Given the description of an element on the screen output the (x, y) to click on. 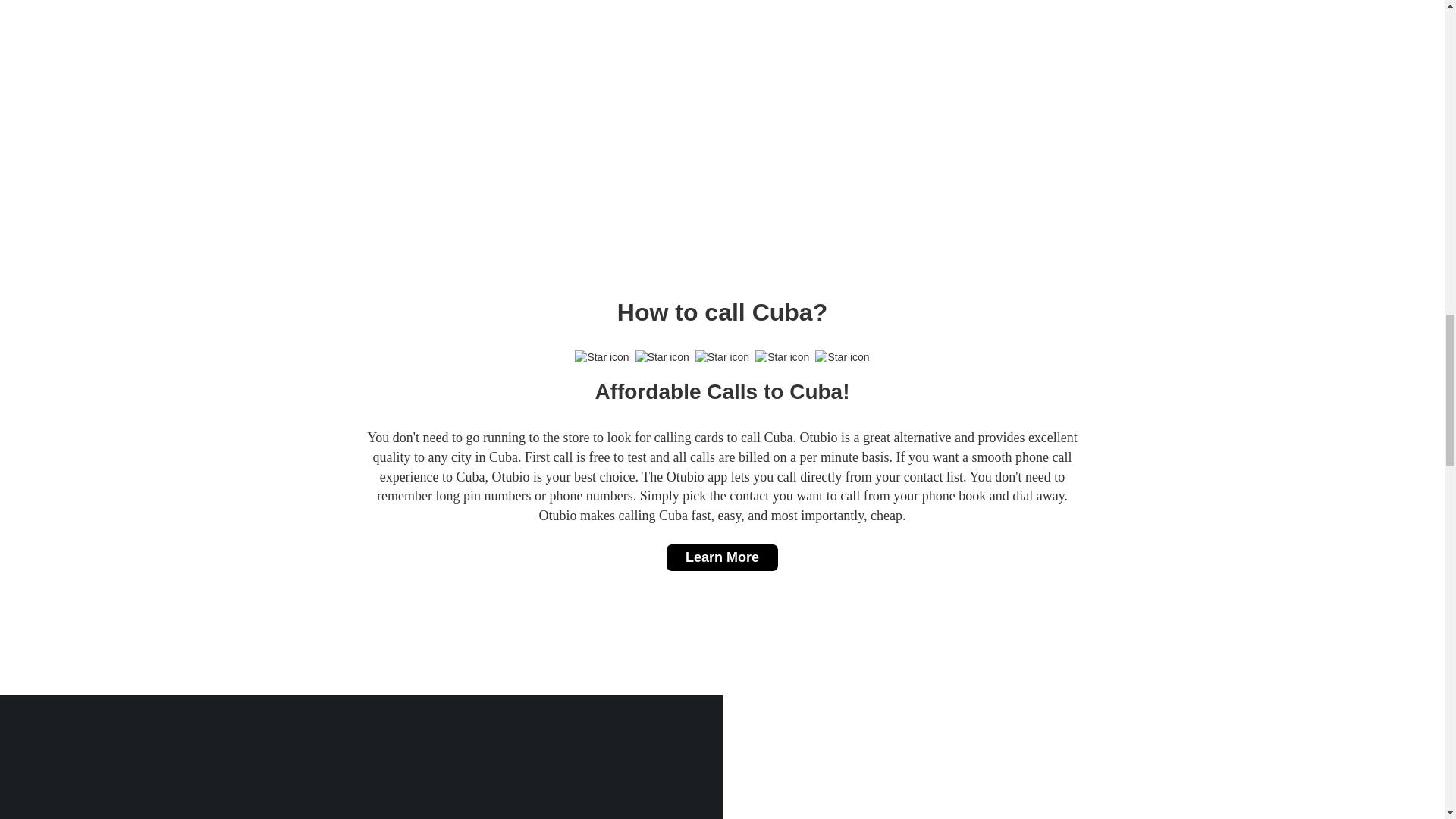
Learn More (721, 557)
Learn More (721, 557)
